Given the description of an element on the screen output the (x, y) to click on. 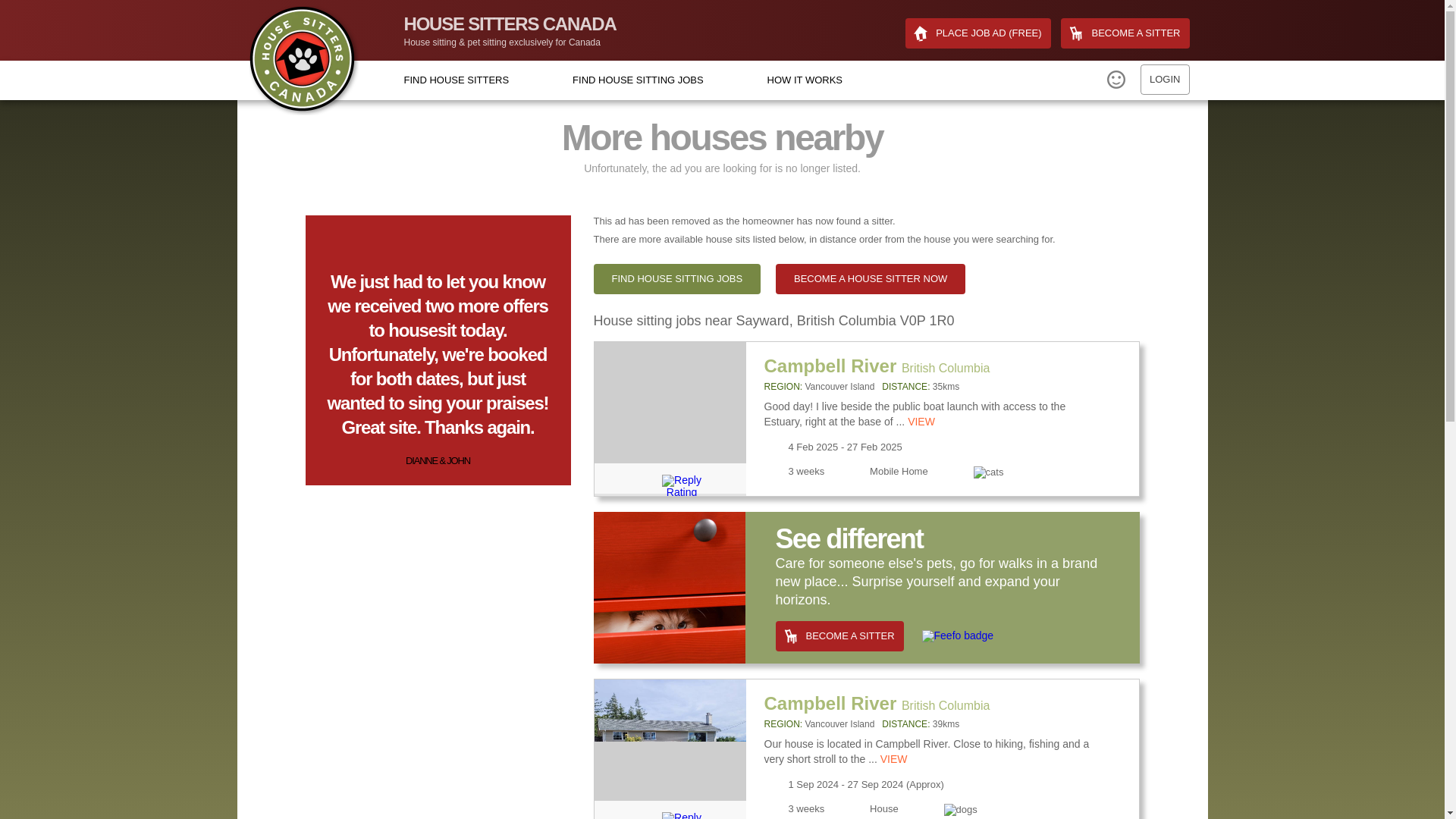
Campbell River British Columbia (877, 702)
See what our members say about us (957, 635)
BECOME A SITTER (838, 635)
BECOME A HOUSE SITTER NOW (870, 278)
BECOME A SITTER (1125, 33)
FIND HOUSE SITTING JOBS (637, 79)
LOGIN (1164, 79)
FIND HOUSE SITTERS (455, 79)
HOW IT WORKS (805, 79)
VIEW (920, 421)
VIEW (893, 758)
FIND HOUSE SITTING JOBS (676, 278)
Campbell River British Columbia (877, 365)
